Given the description of an element on the screen output the (x, y) to click on. 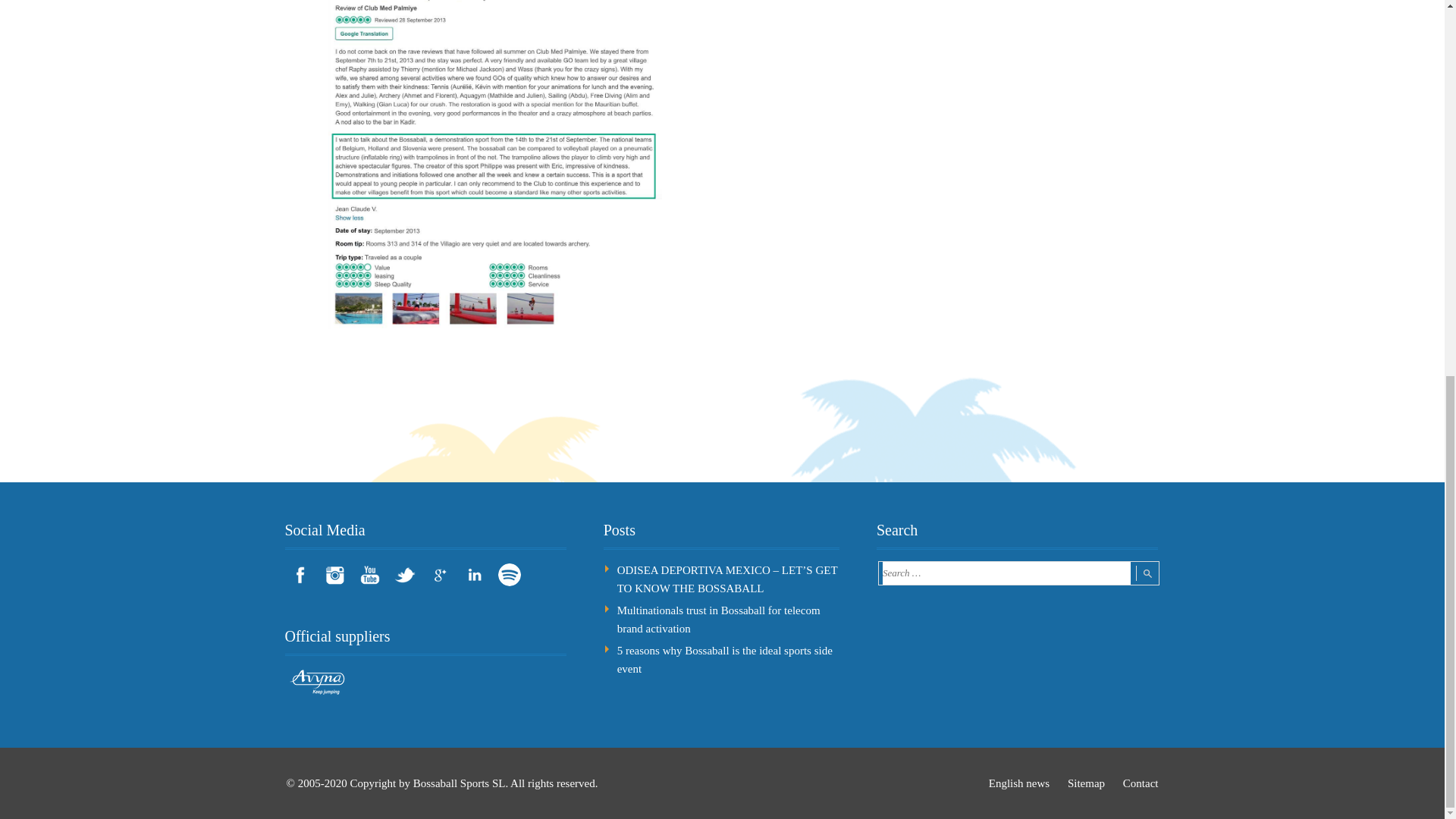
Search (1146, 572)
Search (1146, 572)
Search for: (1006, 572)
